Given the description of an element on the screen output the (x, y) to click on. 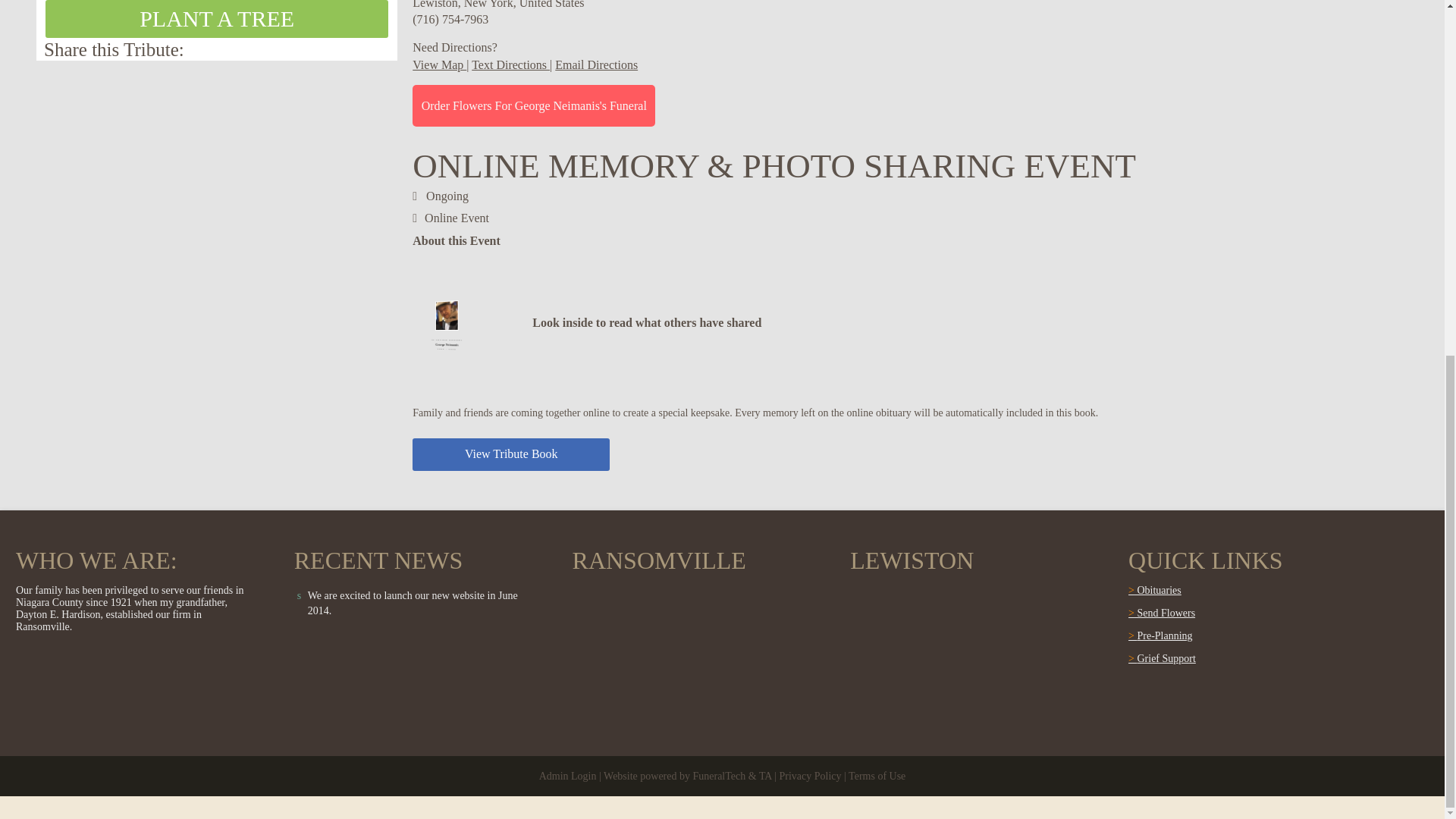
Twitter (367, 48)
Receive Notifications (348, 48)
Facebook (385, 48)
Plant A Tree (216, 18)
PLANT A TREE (216, 18)
